Given the description of an element on the screen output the (x, y) to click on. 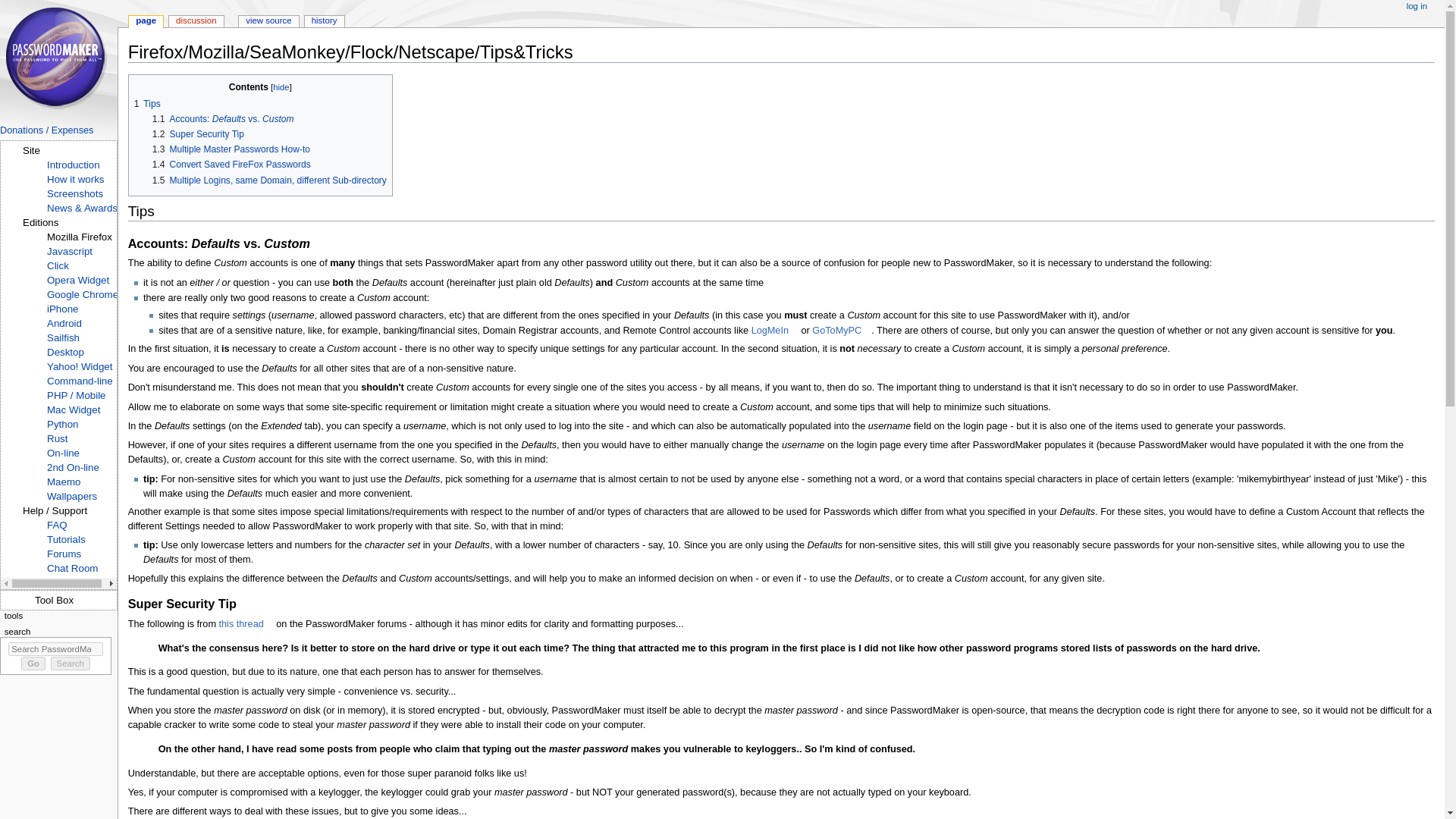
1.4 Convert Saved FireFox Passwords (231, 163)
LogMeIn (774, 330)
this thread (245, 624)
page (146, 21)
1.5 Multiple Logins, same Domain, different Sub-directory (269, 179)
Go (33, 663)
history (323, 21)
view source (268, 21)
1.1 Accounts: Defaults vs. Custom (223, 118)
Search (70, 663)
